Given the description of an element on the screen output the (x, y) to click on. 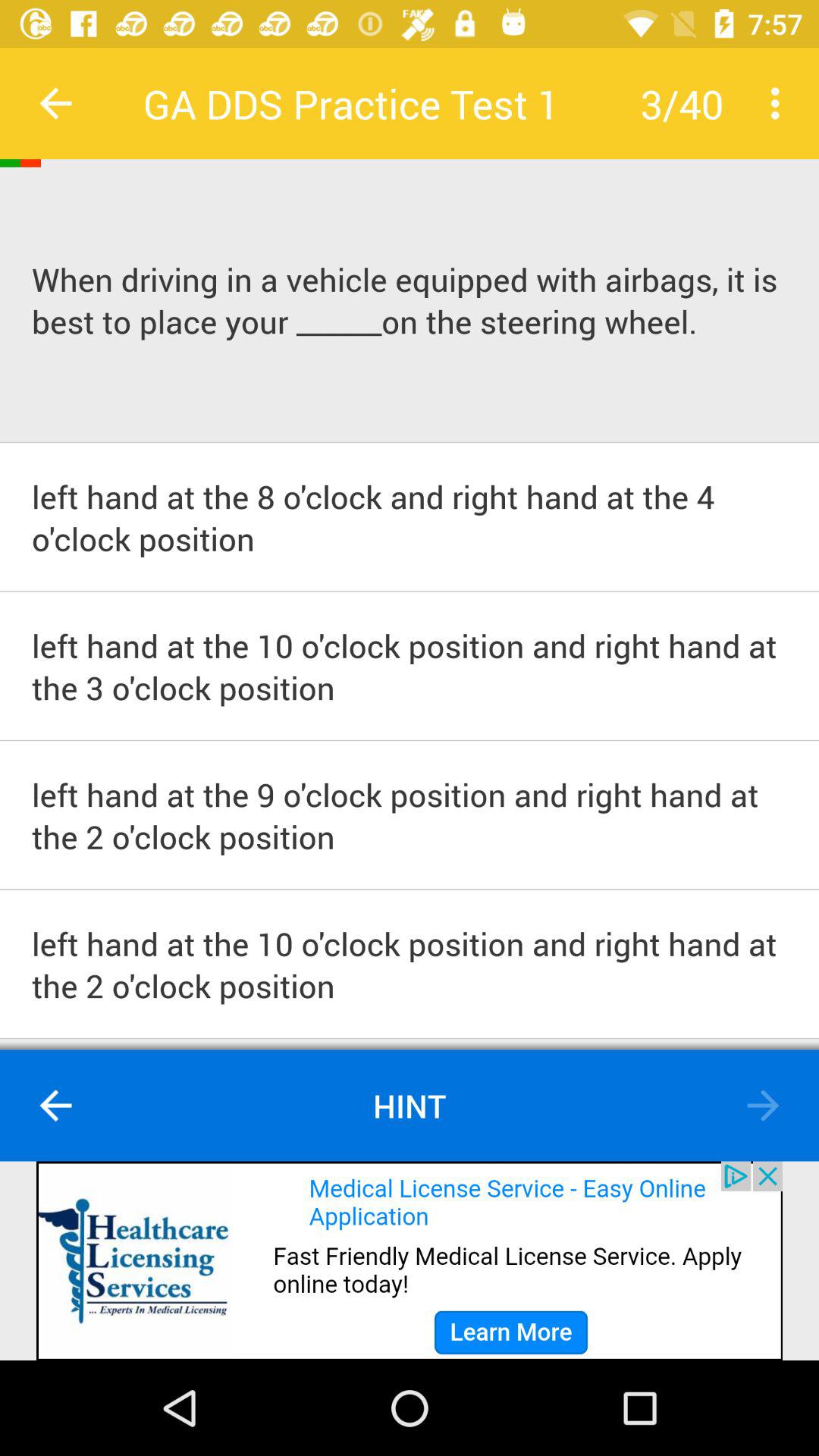
back hint (55, 1105)
